Given the description of an element on the screen output the (x, y) to click on. 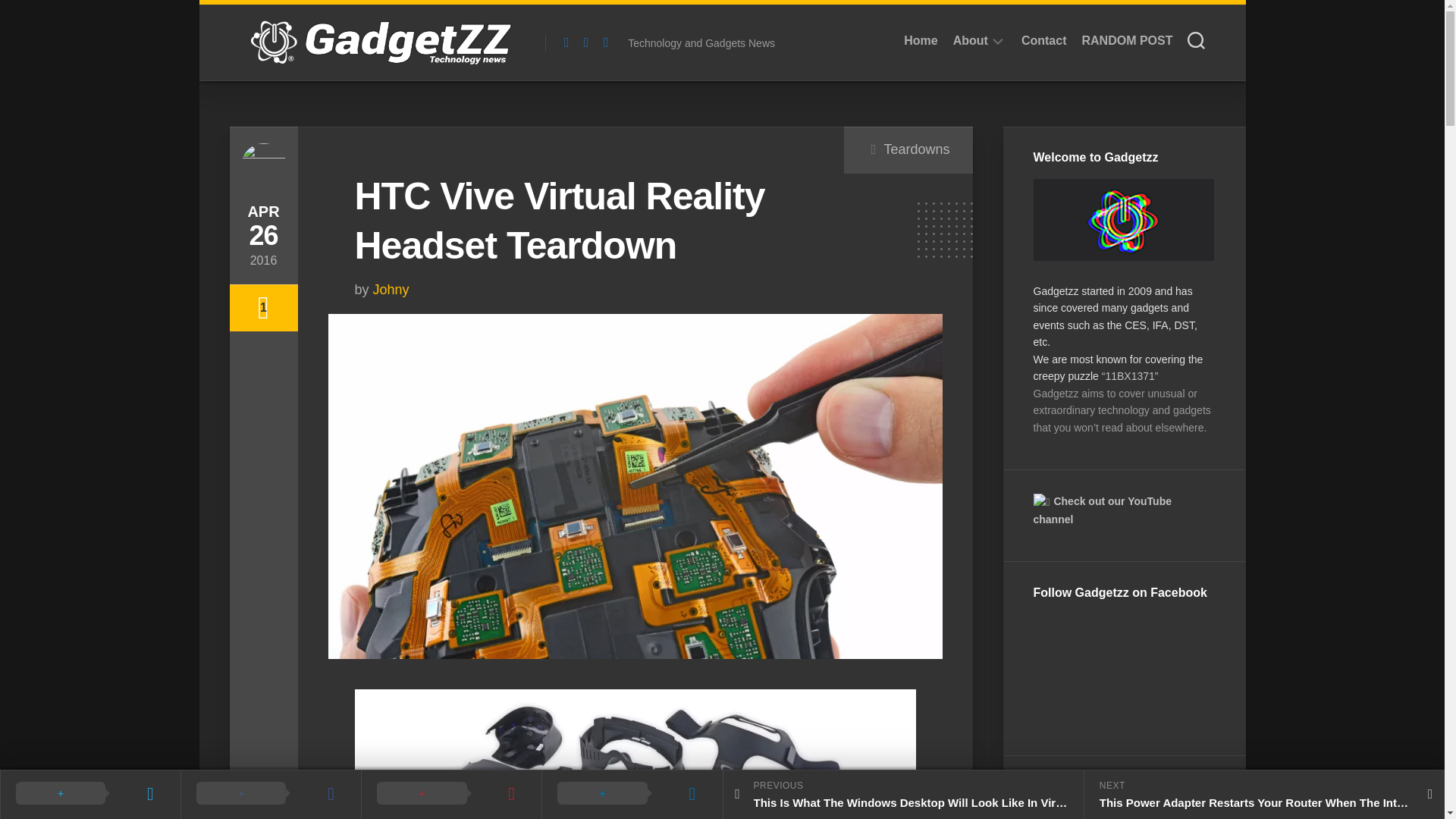
RANDOM POST (1126, 40)
1 (262, 307)
Posts by Johny (390, 289)
Twitter (721, 42)
Home (585, 42)
Johny (920, 40)
About (390, 289)
Youtube (970, 40)
Contact (605, 42)
Teardowns (1044, 40)
Facebook (916, 149)
